Given the description of an element on the screen output the (x, y) to click on. 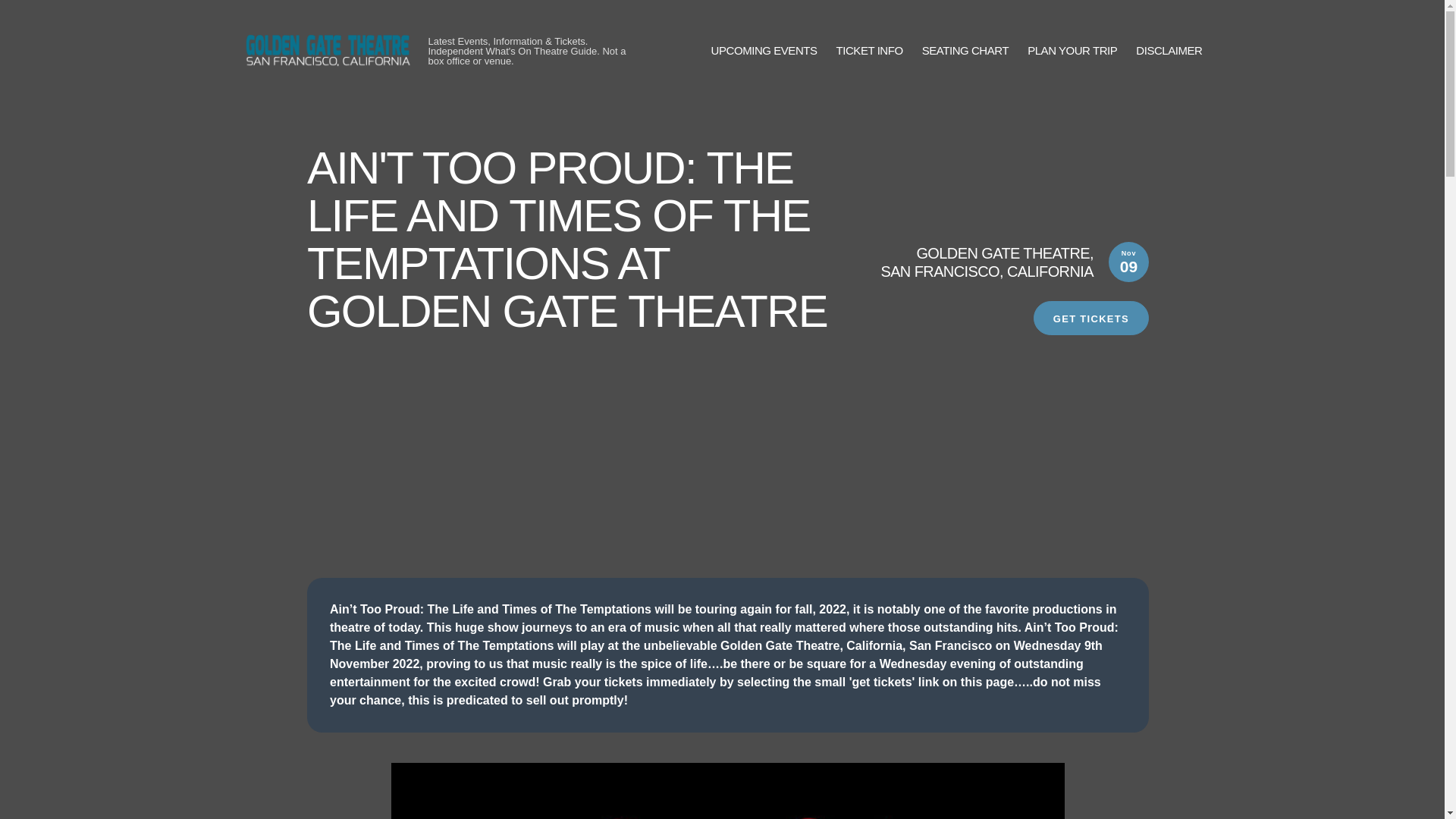
TICKET INFO (868, 50)
PLAN YOUR TRIP (1071, 50)
SEATING CHART (965, 50)
UPCOMING EVENTS (763, 50)
DISCLAIMER (1168, 50)
GET TICKETS (1090, 317)
